Given the description of an element on the screen output the (x, y) to click on. 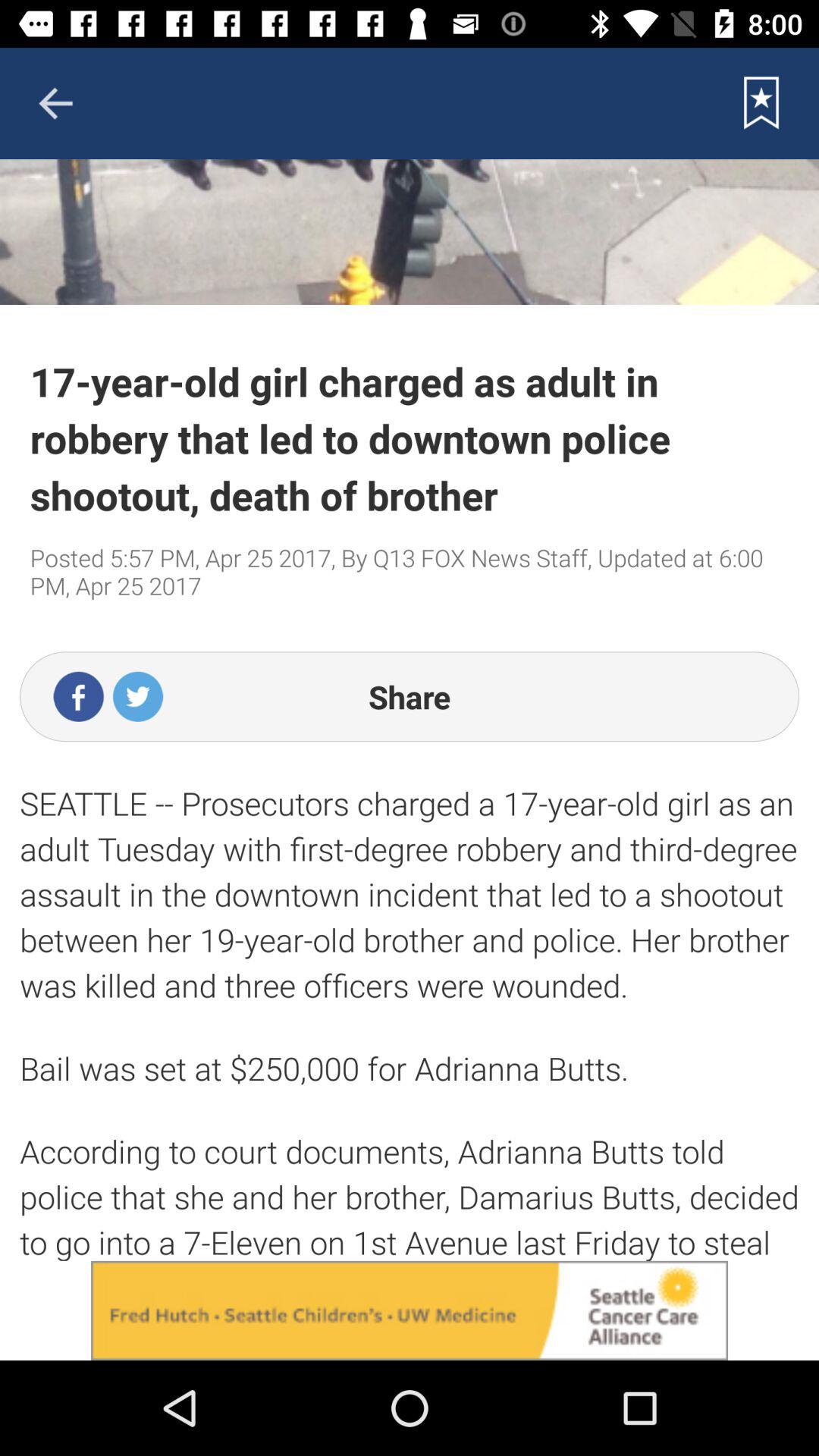
favorite button (761, 102)
